Given the description of an element on the screen output the (x, y) to click on. 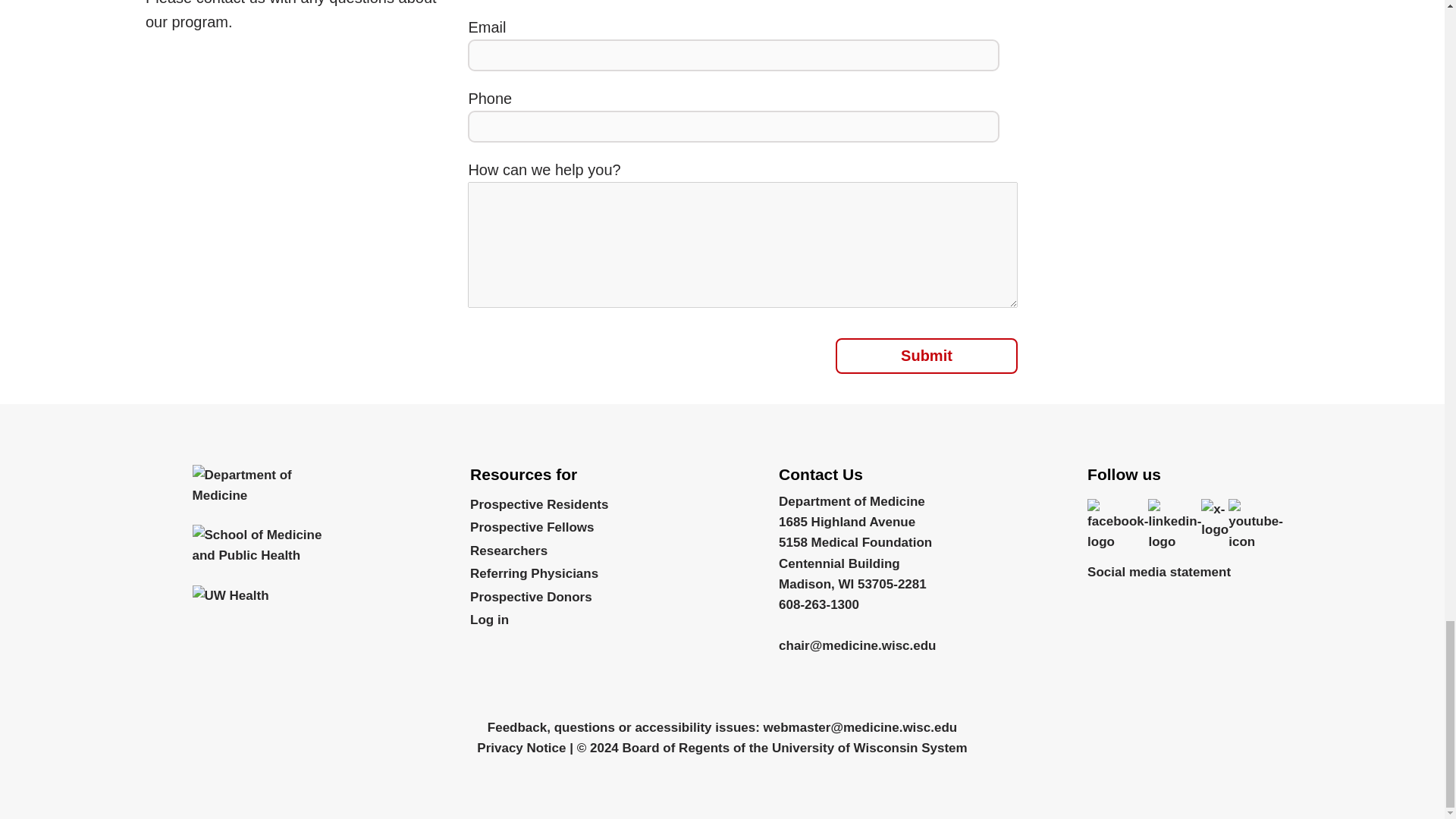
Submit (926, 355)
